Given the description of an element on the screen output the (x, y) to click on. 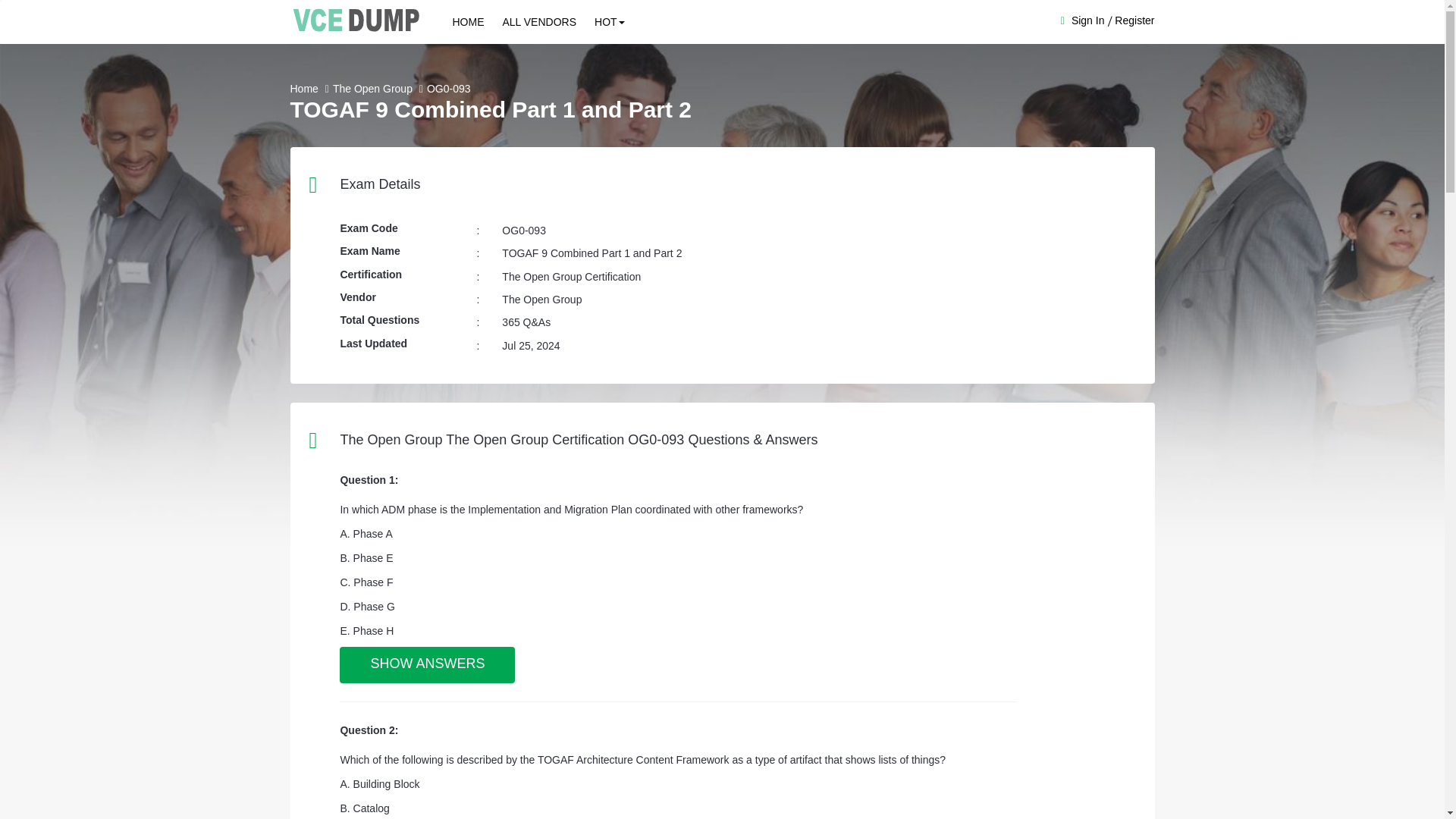
Register (1134, 20)
HOT (609, 21)
HOME (467, 21)
OG0-093 (448, 88)
The Open Group (372, 88)
SHOW ANSWERS (427, 665)
ALL VENDORS (539, 21)
Sign In (1088, 20)
Home (303, 88)
